Given the description of an element on the screen output the (x, y) to click on. 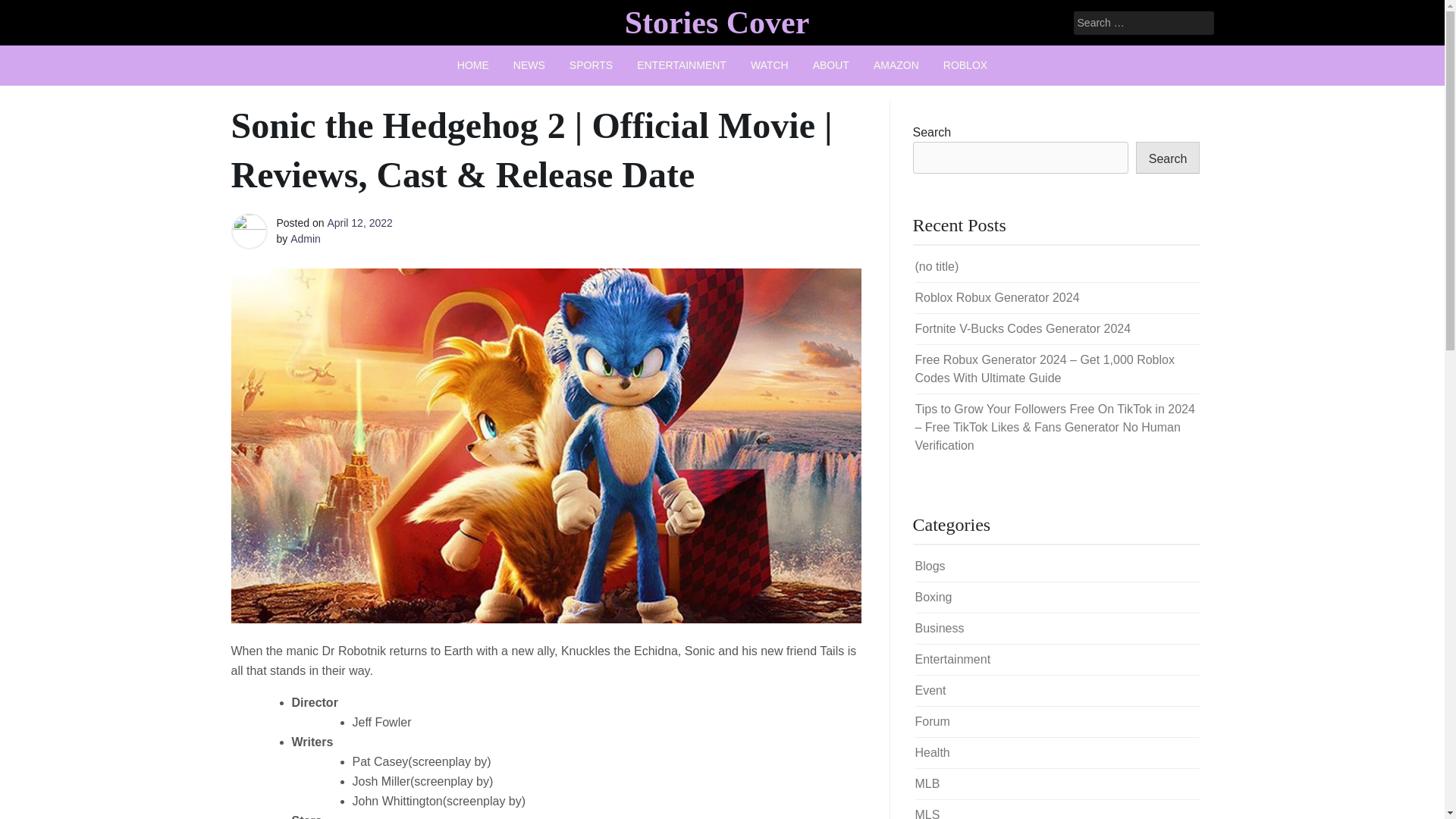
Search (32, 12)
NEWS (528, 65)
SPORTS (590, 65)
WATCH (769, 65)
AMAZON (896, 65)
ABOUT (830, 65)
Stories Cover (716, 22)
HOME (472, 65)
April 12, 2022 (358, 223)
Admin (304, 238)
